Given the description of an element on the screen output the (x, y) to click on. 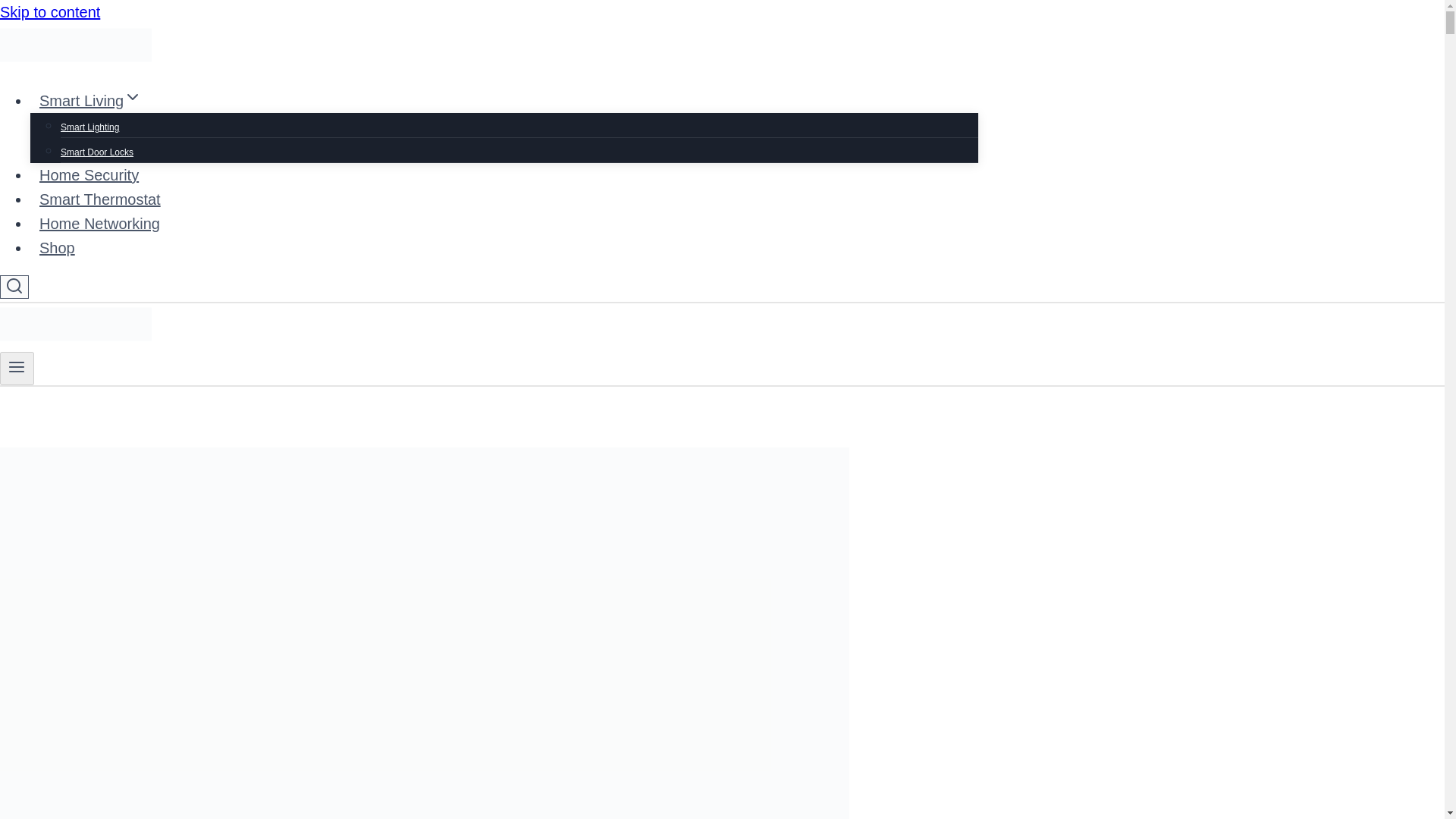
Skip to content (50, 12)
Search (14, 286)
Search (14, 285)
Home Networking (99, 223)
Smart Door Locks (97, 152)
Skip to content (50, 12)
Shop (57, 247)
Toggle Menu (16, 366)
Toggle Menu (16, 368)
Expand (132, 96)
